Given the description of an element on the screen output the (x, y) to click on. 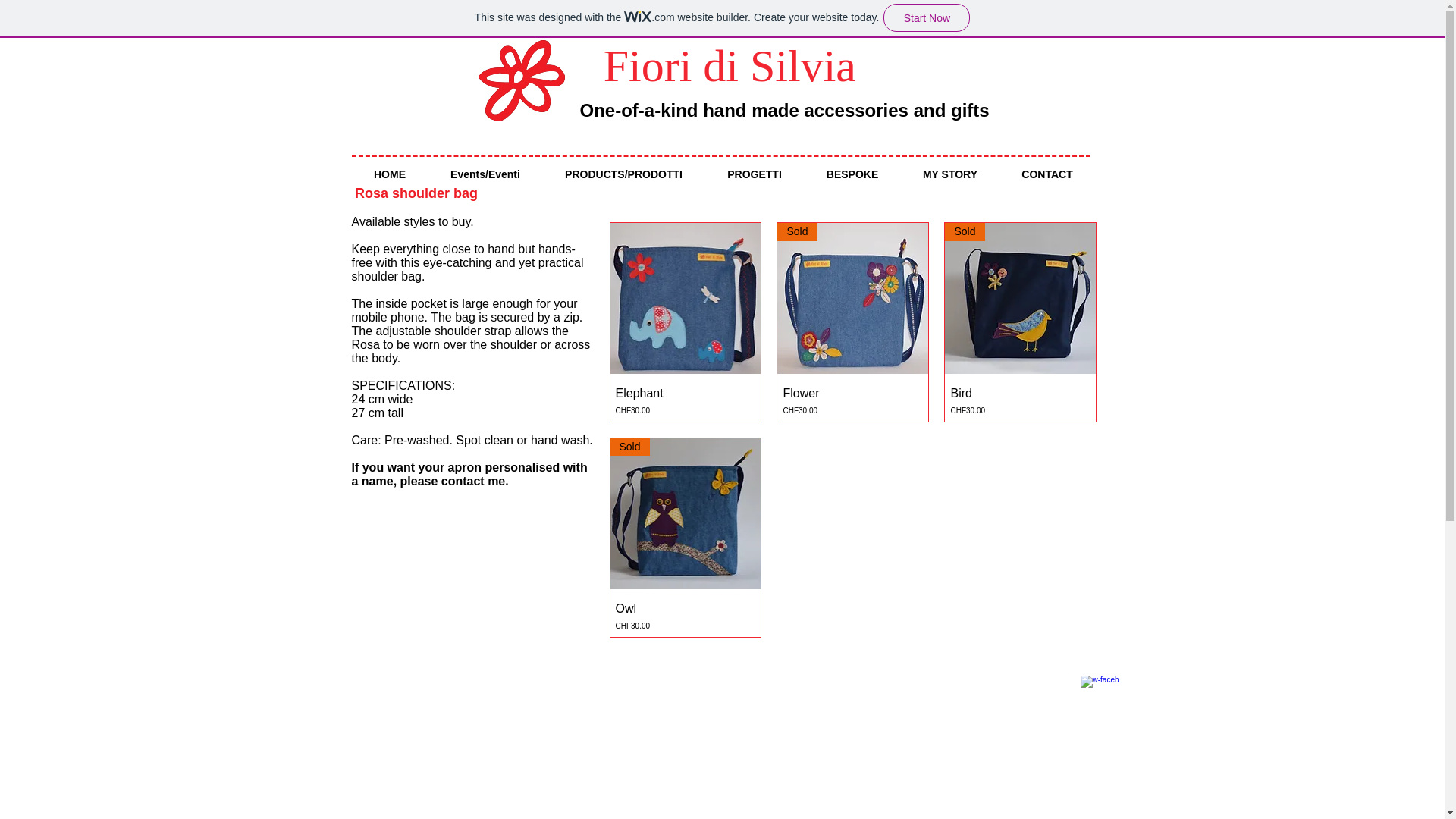
Sold (1020, 297)
Sold (852, 297)
CONTACT (1046, 173)
HOME (390, 173)
BESPOKE (851, 173)
Sold (853, 400)
PROGETTI (685, 616)
MY STORY (685, 513)
